Given the description of an element on the screen output the (x, y) to click on. 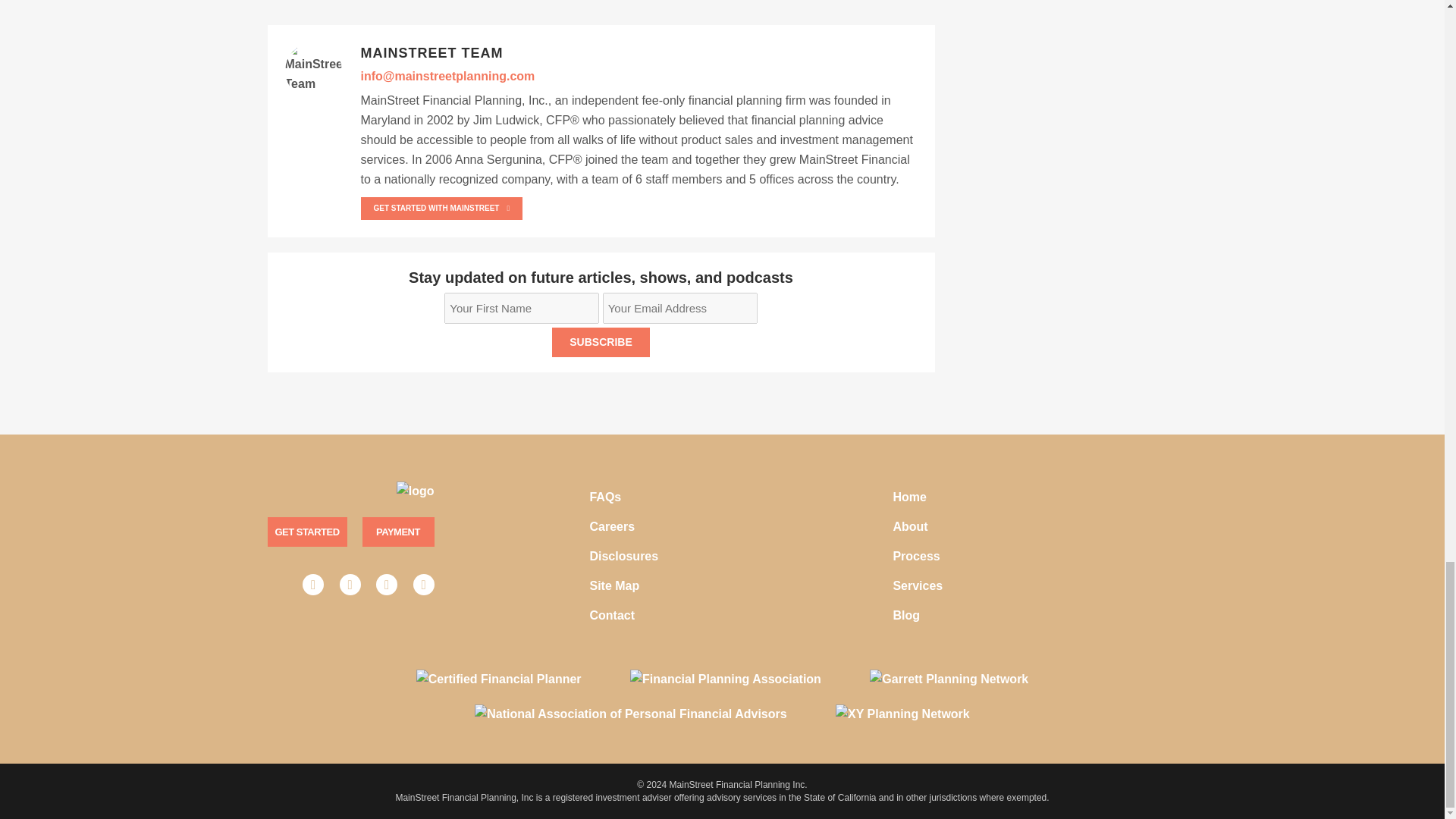
Subscribe (600, 342)
